Given the description of an element on the screen output the (x, y) to click on. 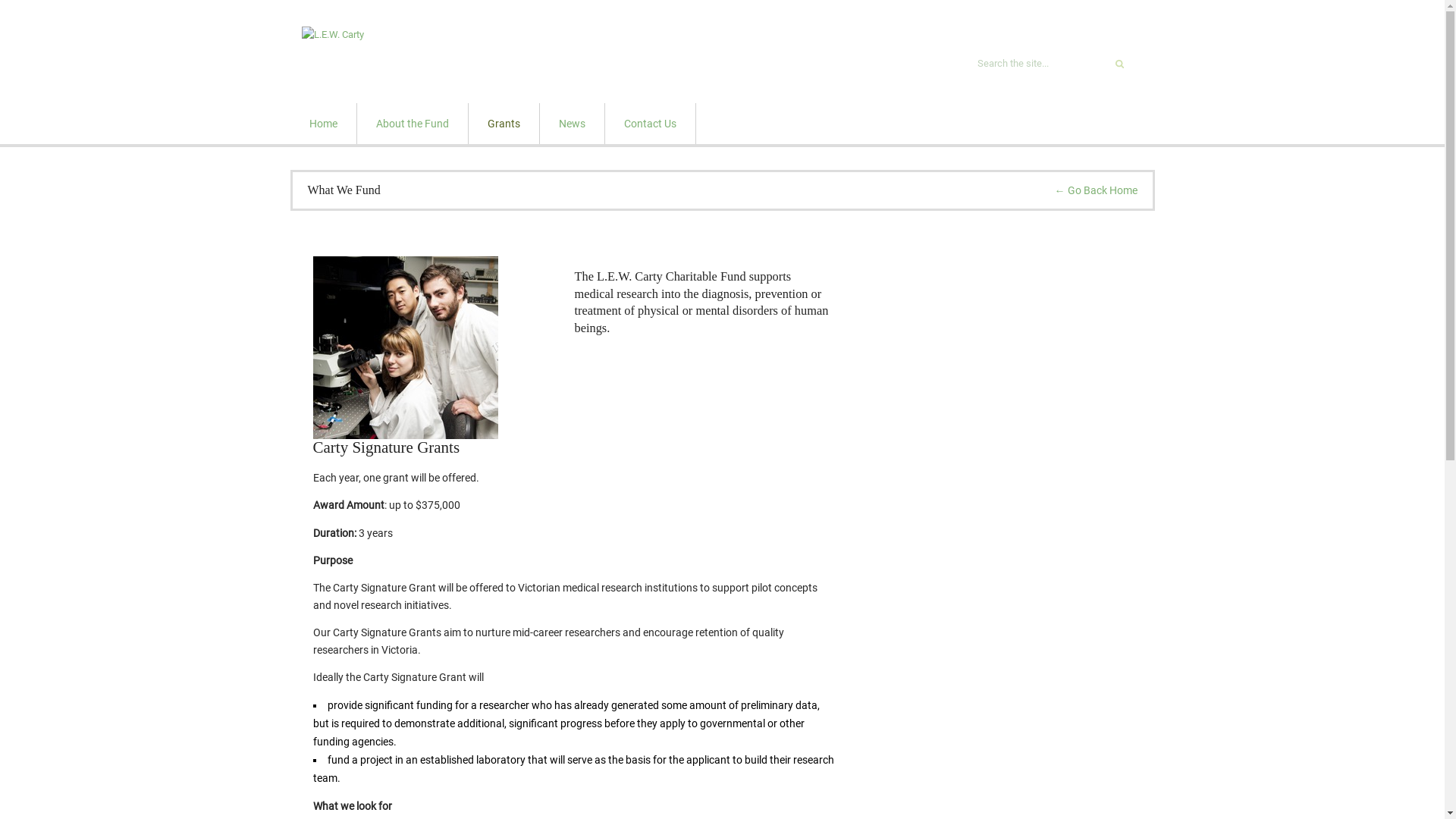
News Element type: text (571, 123)
Contact Us Element type: text (649, 123)
About the Fund Element type: text (412, 123)
Home Element type: text (323, 123)
Grants Element type: text (502, 123)
